Given the description of an element on the screen output the (x, y) to click on. 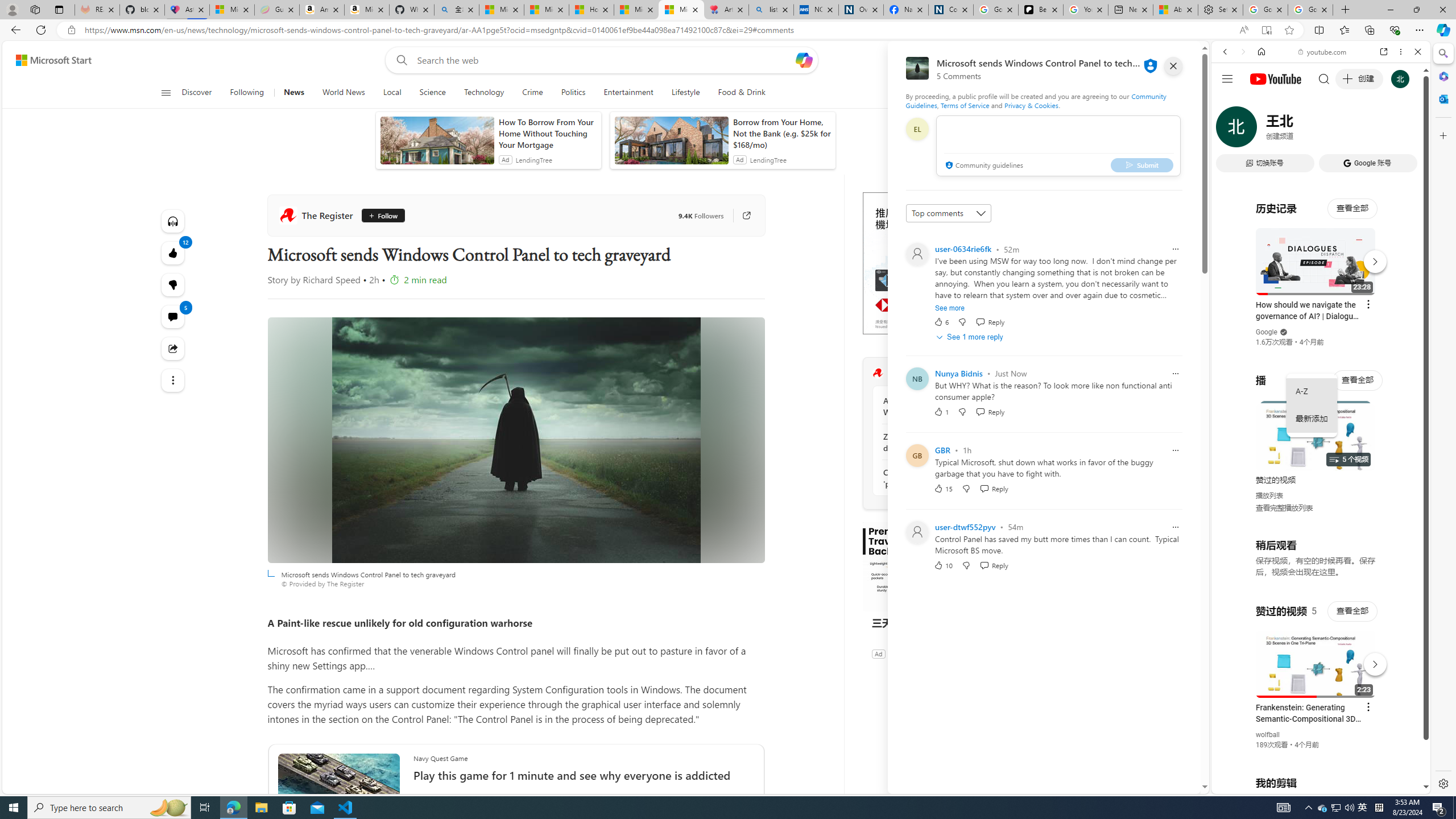
World News (343, 92)
A-Z (1311, 391)
Technology (483, 92)
Profile Picture (916, 531)
GBR (942, 449)
Search Filter, Search Tools (1350, 129)
Click to scroll right (1407, 456)
Enter your search term (603, 59)
Lifestyle (685, 92)
Submit (1141, 164)
